Given the description of an element on the screen output the (x, y) to click on. 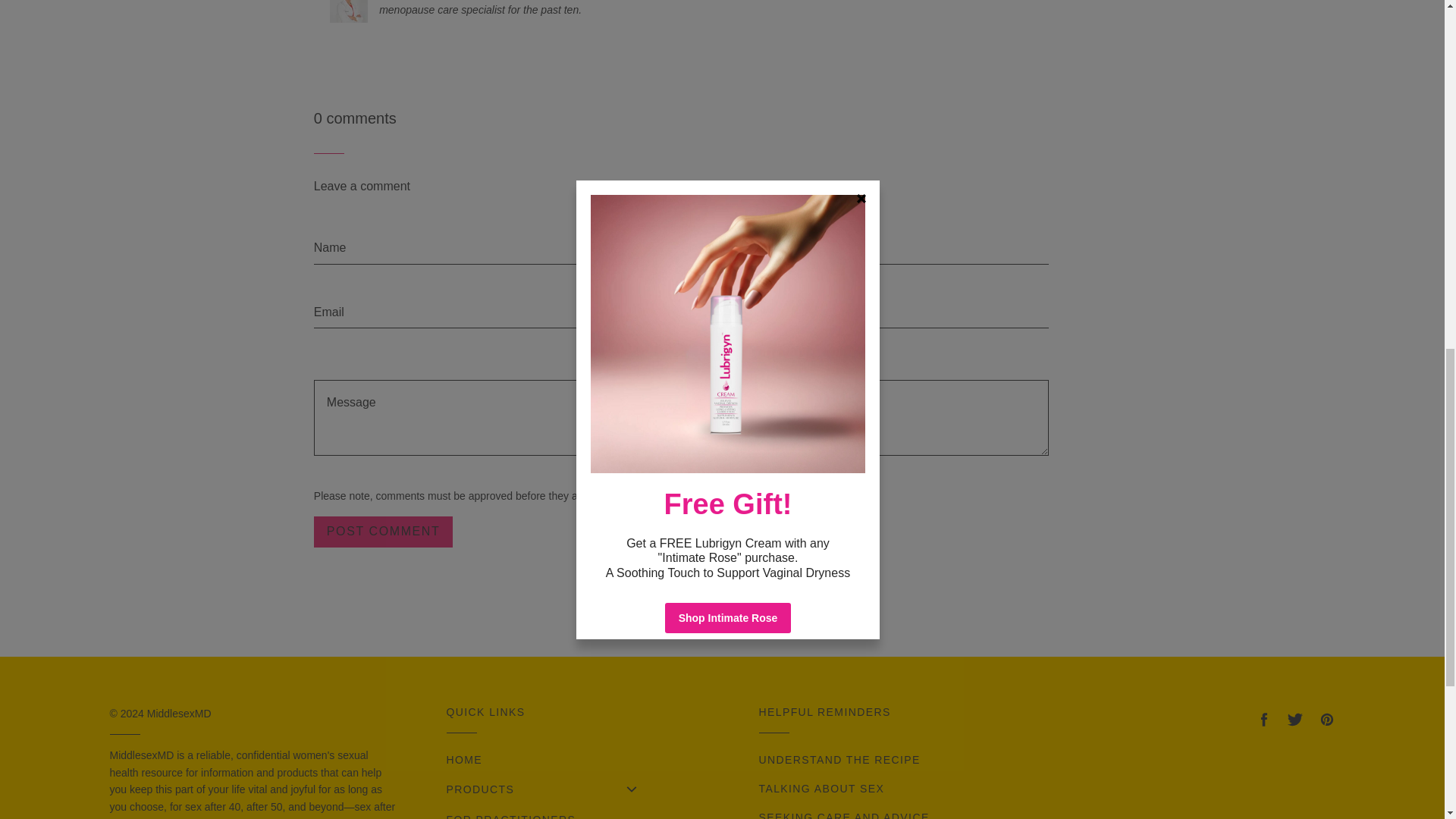
MiddlesexMD on Twitter (1295, 719)
Post comment (383, 531)
MiddlesexMD on Facebook (1263, 719)
MiddlesexMD on Pinterest (1326, 719)
